Given the description of an element on the screen output the (x, y) to click on. 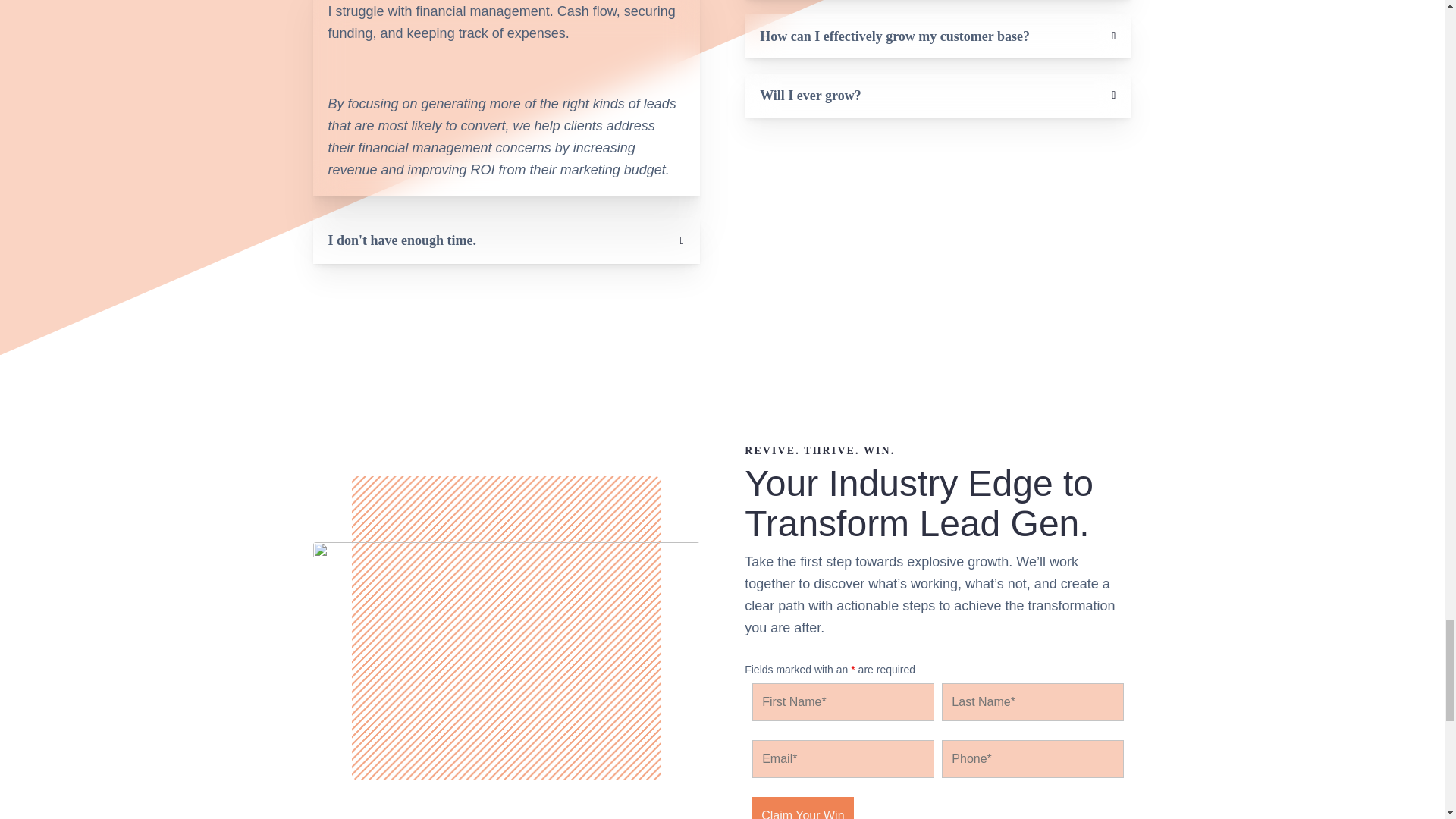
Claim Your Win (802, 807)
Claim Your Win (802, 807)
